Given the description of an element on the screen output the (x, y) to click on. 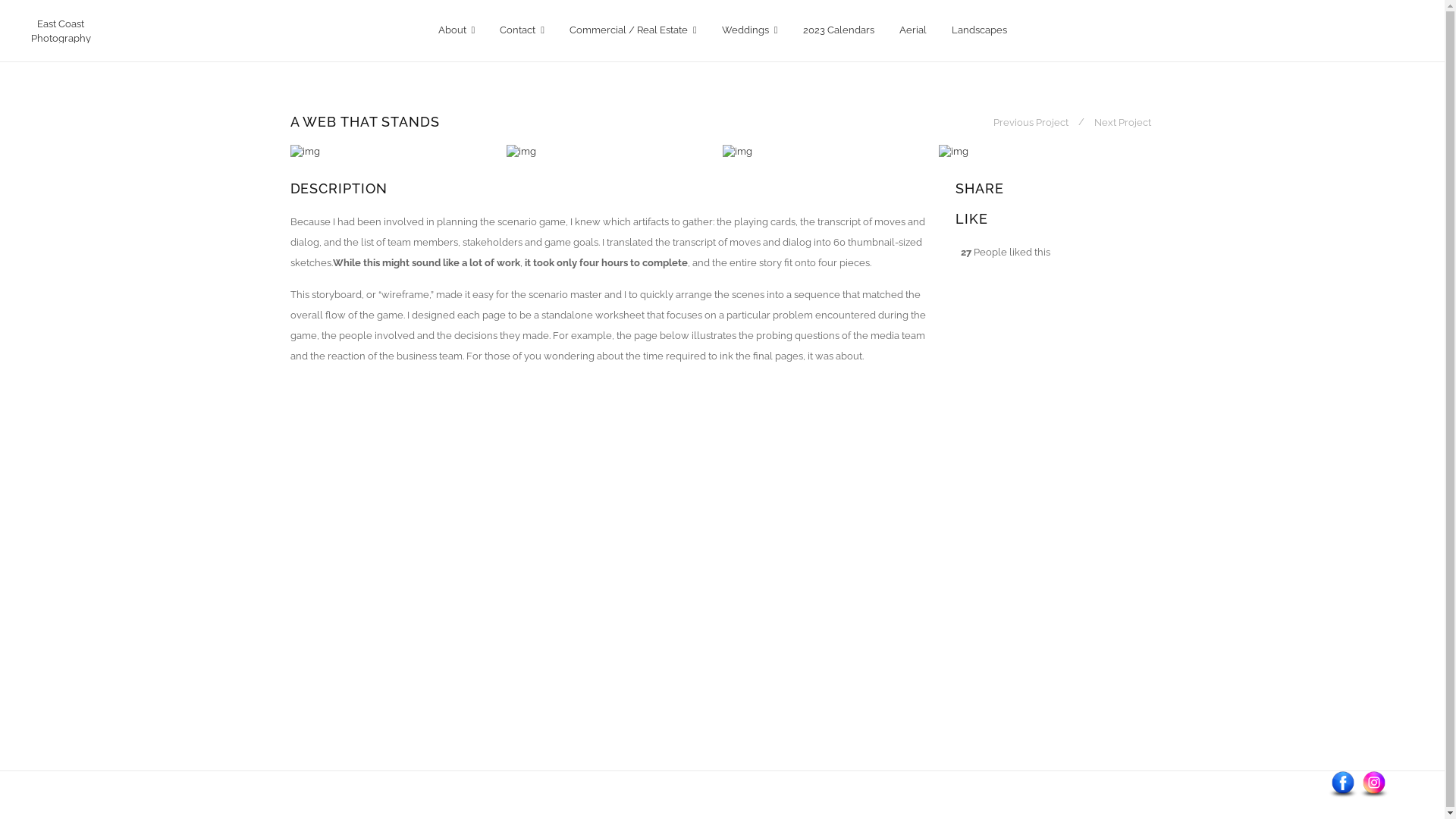
About Element type: text (456, 30)
East Coast Photography Element type: text (60, 30)
Previous Project Element type: text (1029, 120)
Contact Element type: text (521, 30)
Visit Us On Facebook Element type: hover (1342, 783)
Commercial / Real Estate Element type: text (633, 30)
Landscapes Element type: text (979, 30)
Weddings Element type: text (749, 30)
Next Project Element type: text (1122, 120)
27 People liked this Element type: text (1002, 251)
Aerial Element type: text (912, 30)
2023 Calendars Element type: text (838, 30)
Visit Us On Instagram Element type: hover (1373, 783)
